Given the description of an element on the screen output the (x, y) to click on. 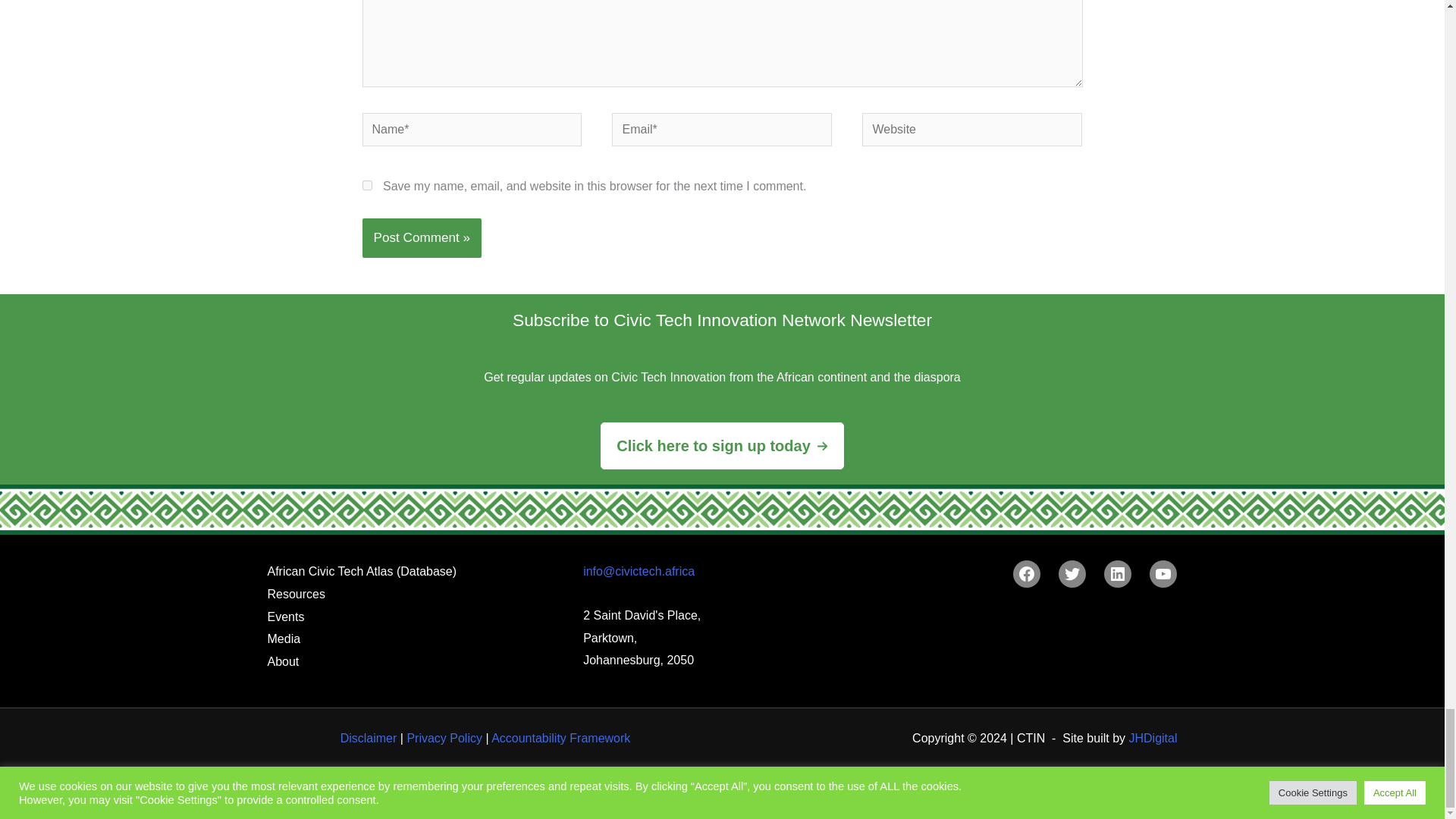
yes (367, 185)
